Given the description of an element on the screen output the (x, y) to click on. 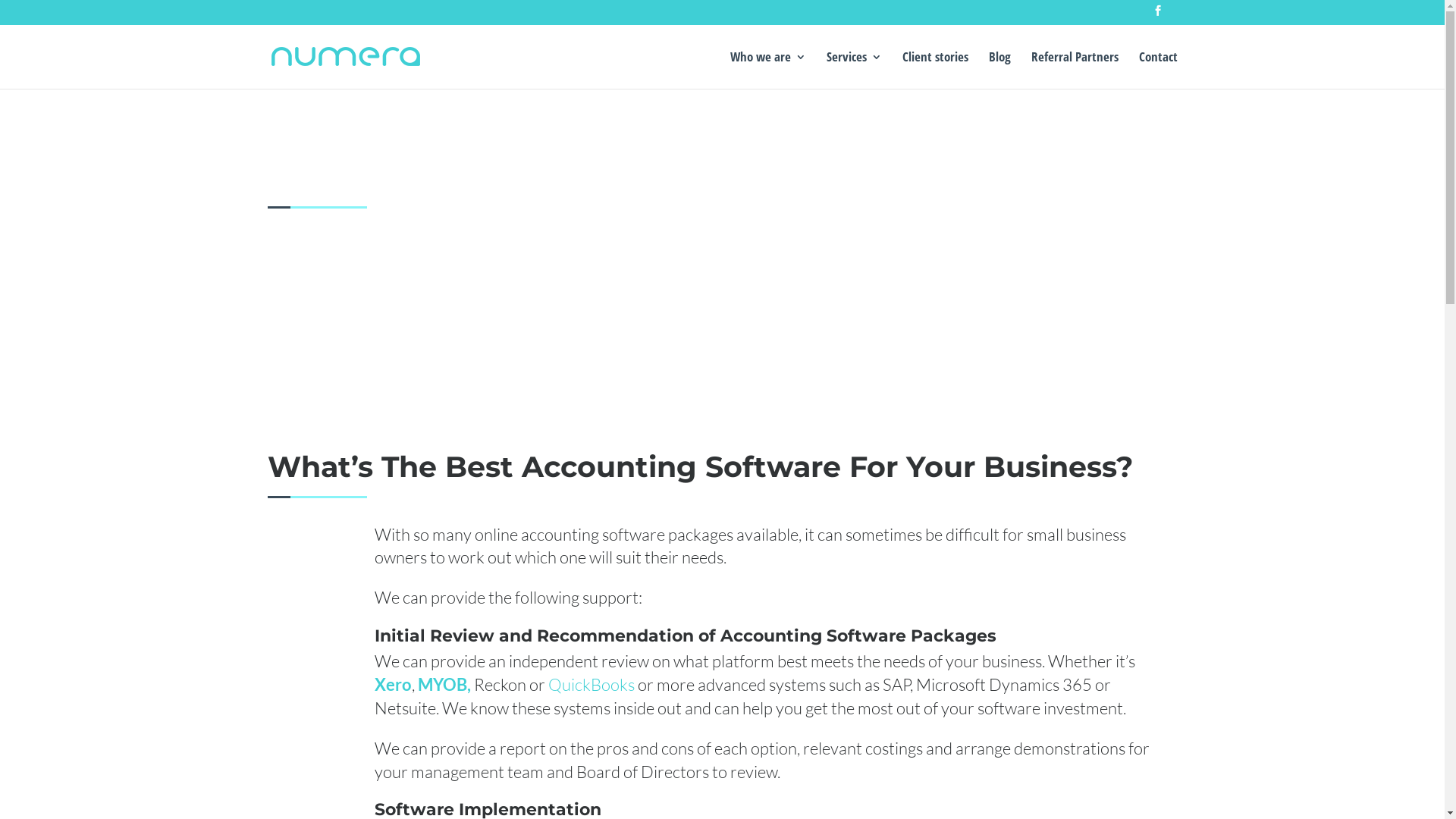
MYOB, Element type: text (443, 684)
QuickBooks Element type: text (590, 684)
Xero Element type: text (392, 684)
Client stories Element type: text (935, 69)
Contact Element type: text (1158, 69)
Services Element type: text (853, 69)
Referral Partners Element type: text (1074, 69)
Who we are Element type: text (767, 69)
Blog Element type: text (999, 69)
